Given the description of an element on the screen output the (x, y) to click on. 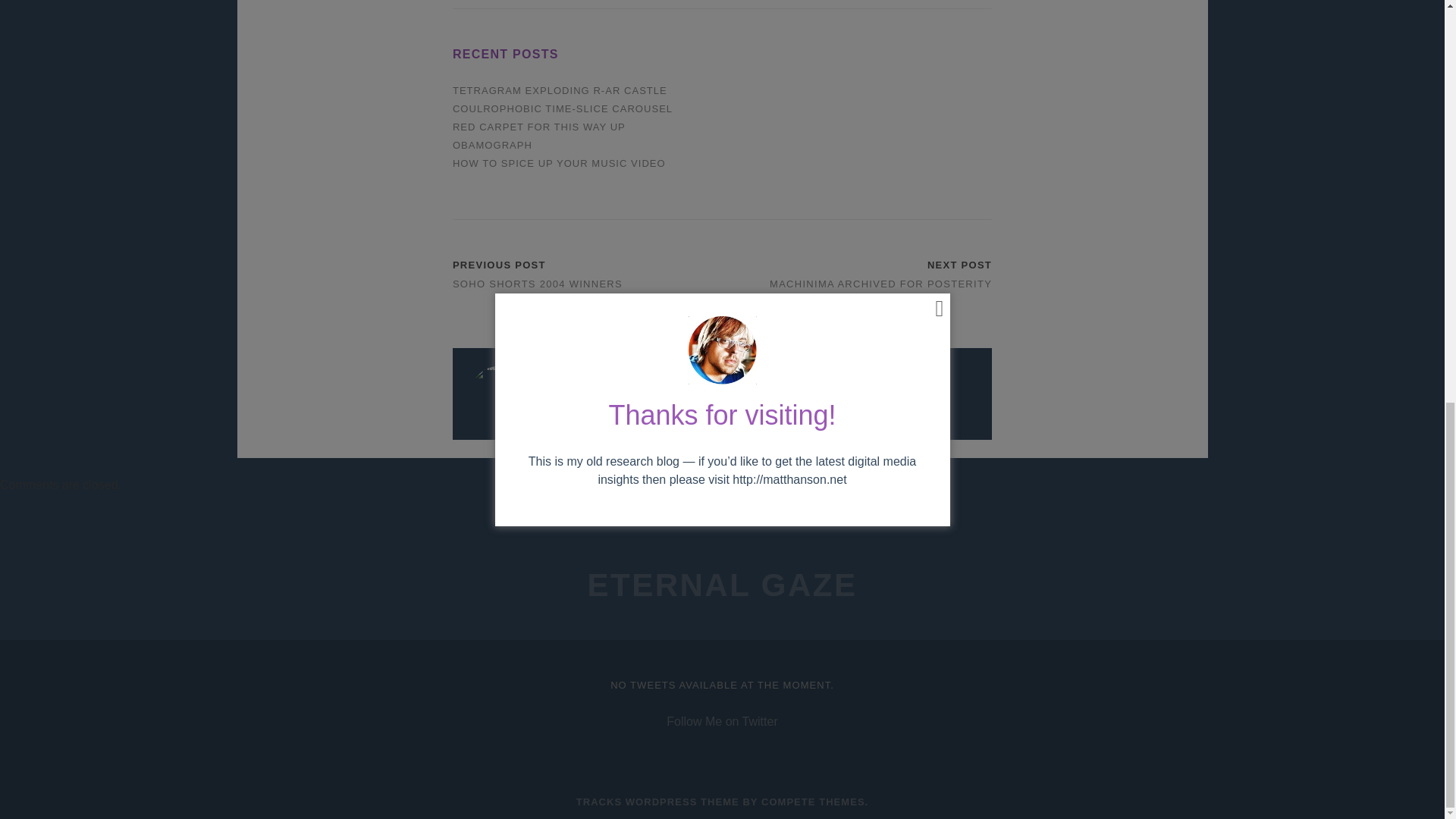
Follow Me on Twitter (721, 721)
COULROPHOBIC TIME-SLICE CAROUSEL (562, 108)
HOW TO SPICE UP YOUR MUSIC VIDEO (558, 163)
TETRAGRAM EXPLODING R-AR CASTLE (559, 90)
MATT HANSON (538, 402)
OBAMOGRAPH (492, 144)
SOHO SHORTS 2004 WINNERS (537, 283)
TRACKS WORDPRESS THEME (657, 801)
Posts by Matt Hanson (538, 402)
RED CARPET FOR THIS WAY UP (539, 126)
MACHINIMA ARCHIVED FOR POSTERITY (880, 283)
ETERNAL GAZE (721, 584)
